Given the description of an element on the screen output the (x, y) to click on. 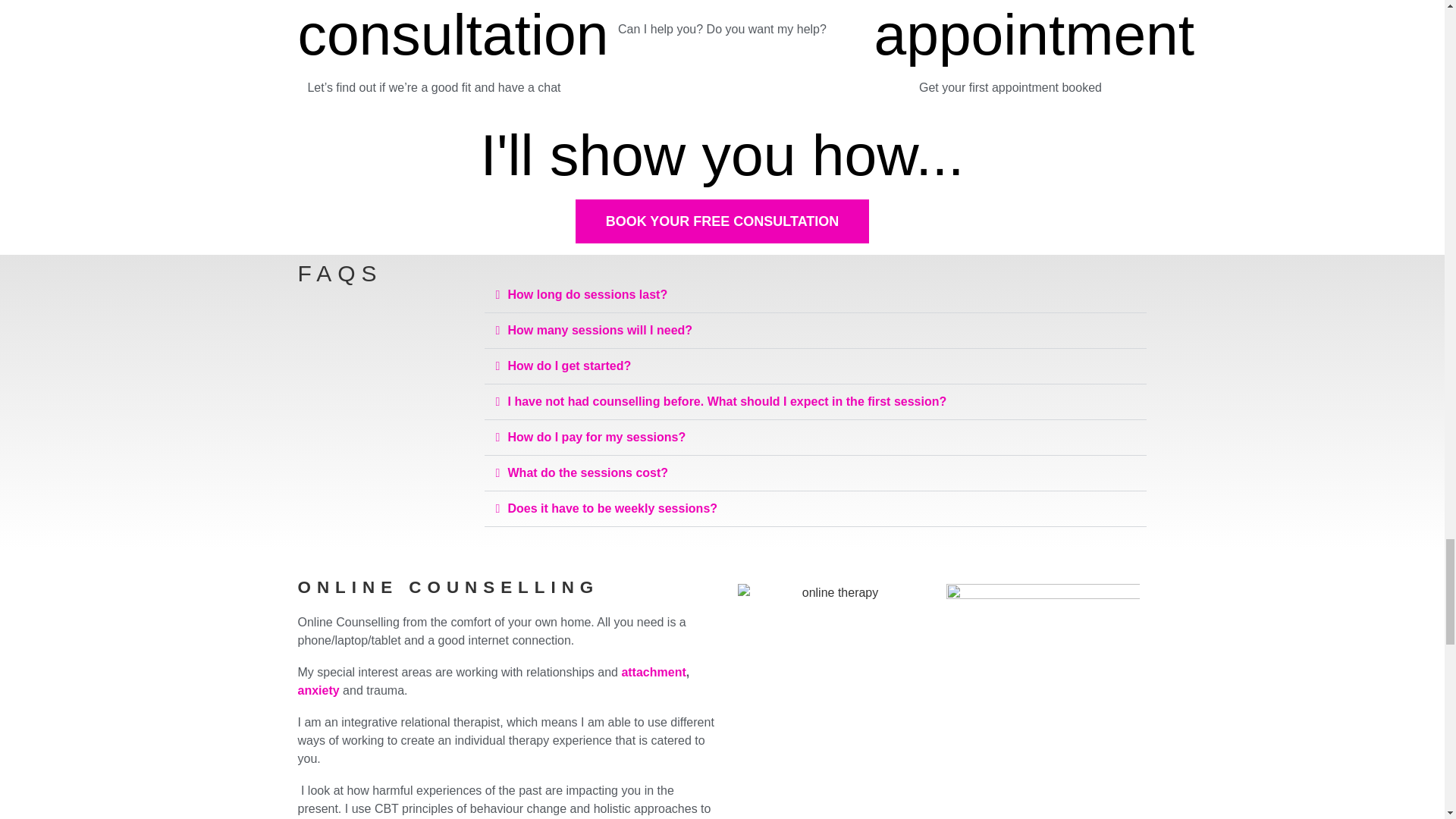
How long do sessions last? (588, 294)
How many sessions will I need? (600, 329)
BOOK YOUR FREE CONSULTATION (722, 221)
How do I get started? (569, 365)
